Given the description of an element on the screen output the (x, y) to click on. 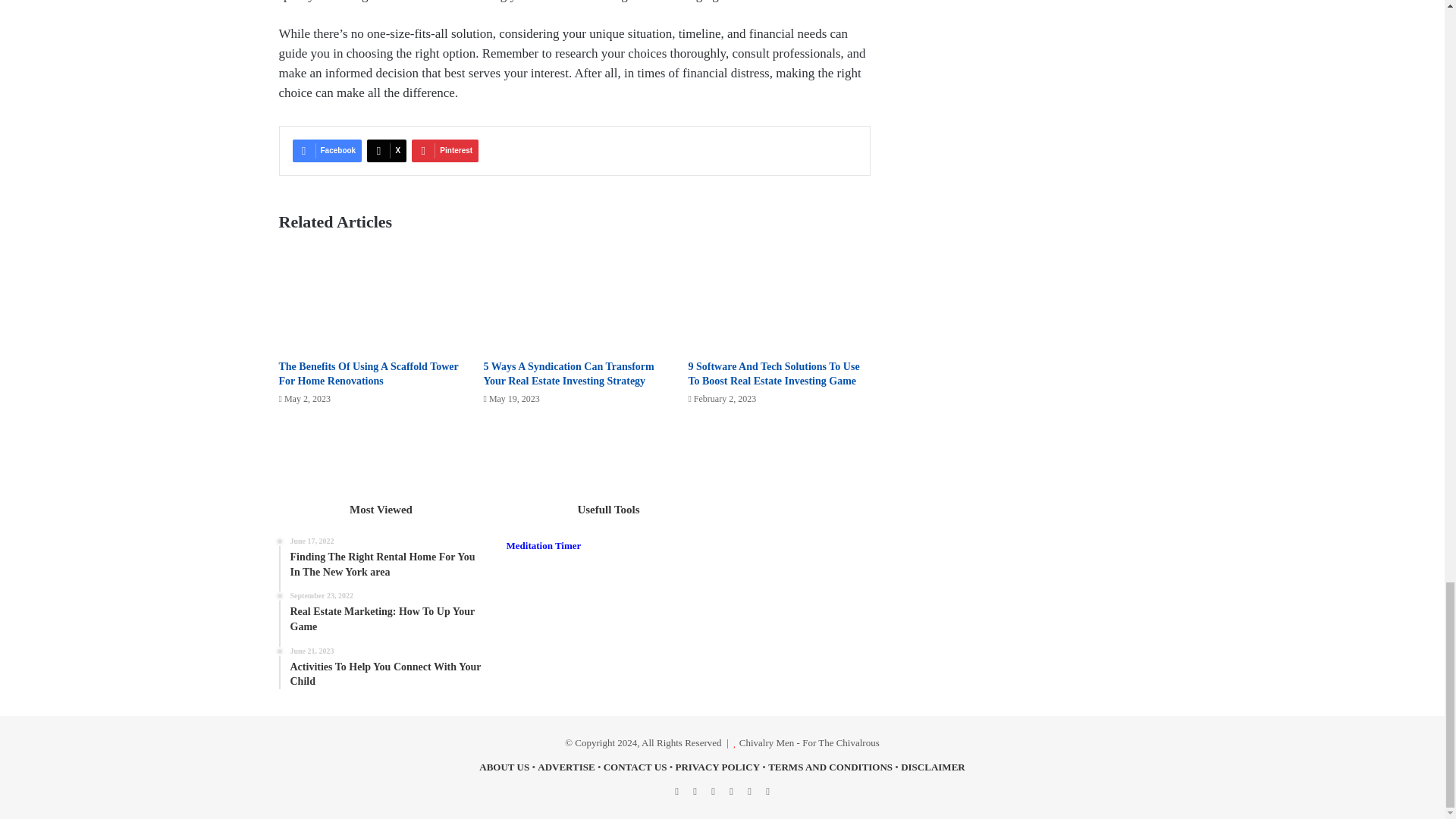
Facebook (327, 150)
Pinterest (445, 150)
X (386, 150)
The Benefits Of Using A Scaffold Tower For Home Renovations (368, 373)
Pinterest (445, 150)
Facebook (327, 150)
X (386, 150)
